Given the description of an element on the screen output the (x, y) to click on. 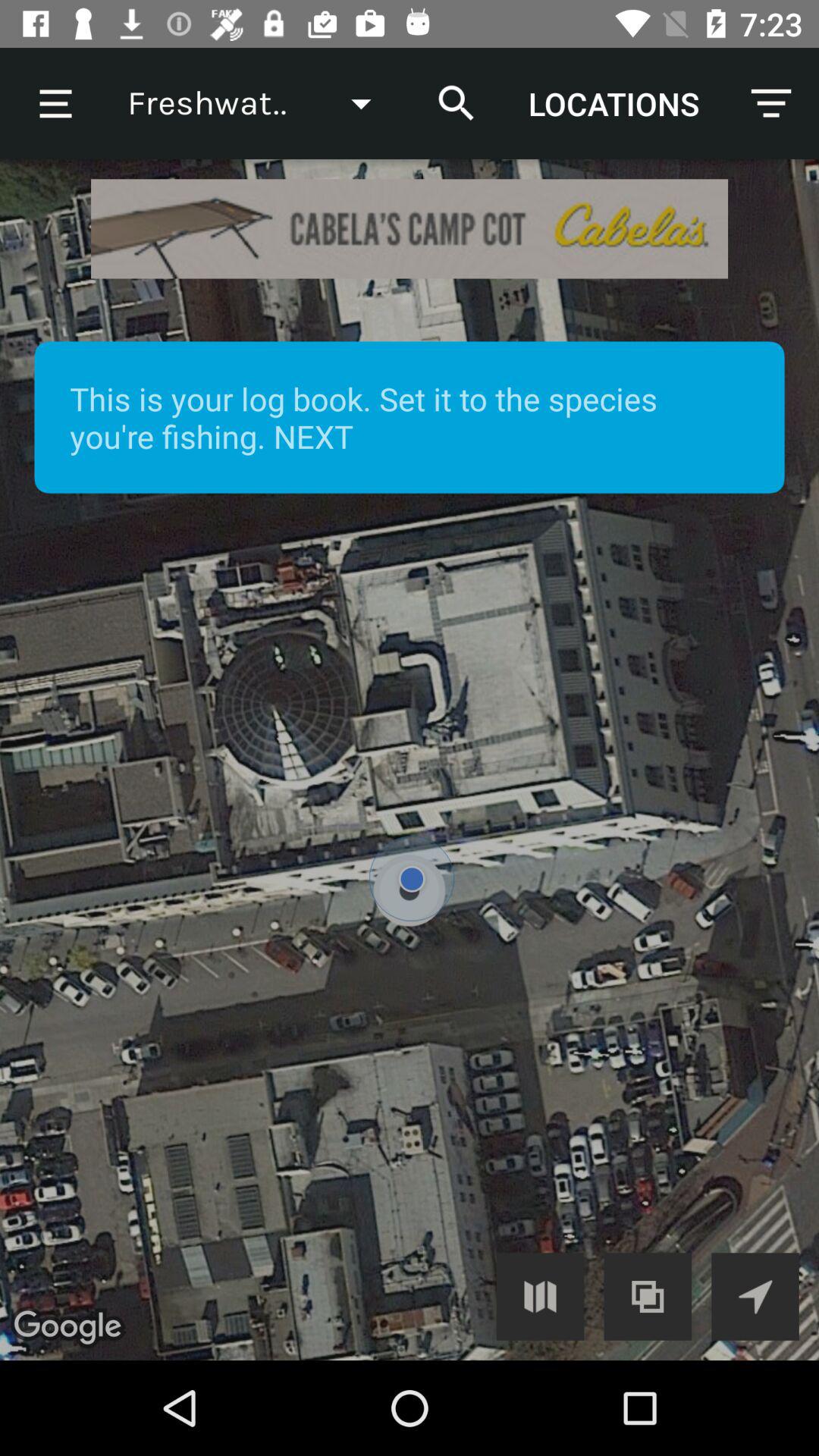
photos (647, 1296)
